Given the description of an element on the screen output the (x, y) to click on. 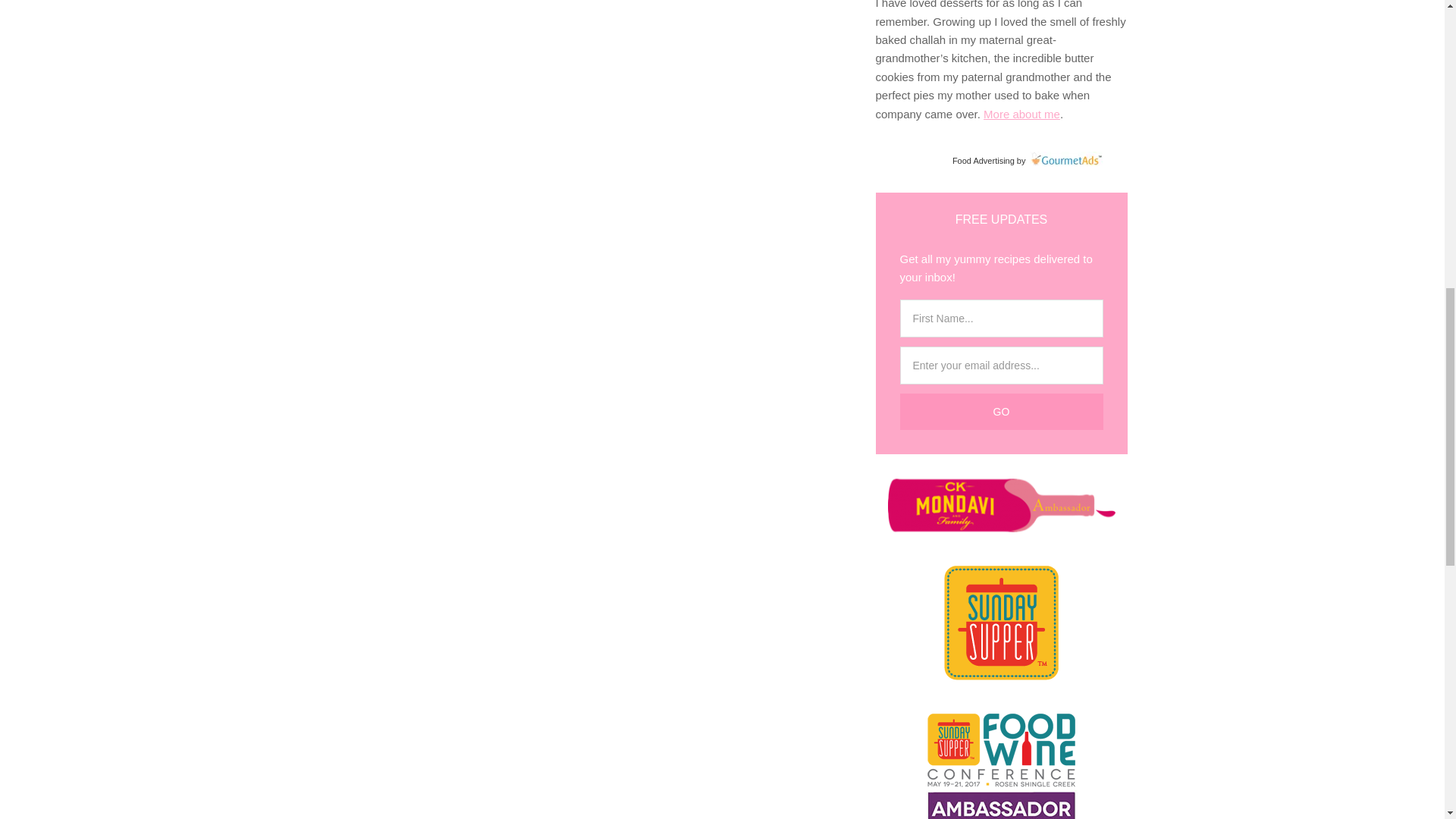
Food Advertising (983, 160)
Go (1000, 411)
More about me (1021, 113)
Go (1000, 411)
Food Advertising (983, 160)
